Given the description of an element on the screen output the (x, y) to click on. 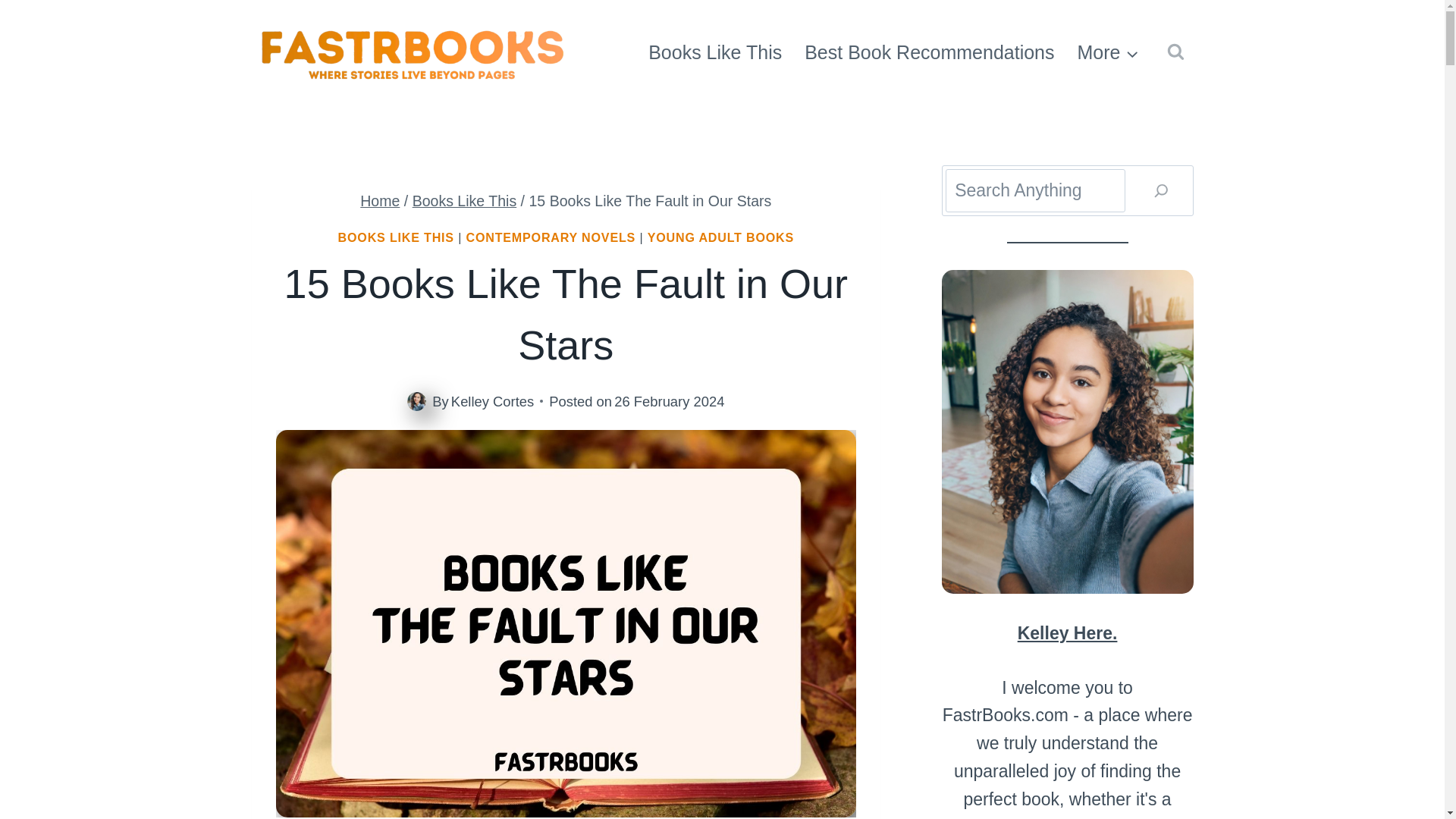
More (1108, 51)
Home (378, 200)
CONTEMPORARY NOVELS (549, 237)
Best Book Recommendations (929, 51)
Books Like This (715, 51)
YOUNG ADULT BOOKS (720, 237)
Books Like This (464, 200)
BOOKS LIKE THIS (395, 237)
Kelley Cortes (492, 401)
